Given the description of an element on the screen output the (x, y) to click on. 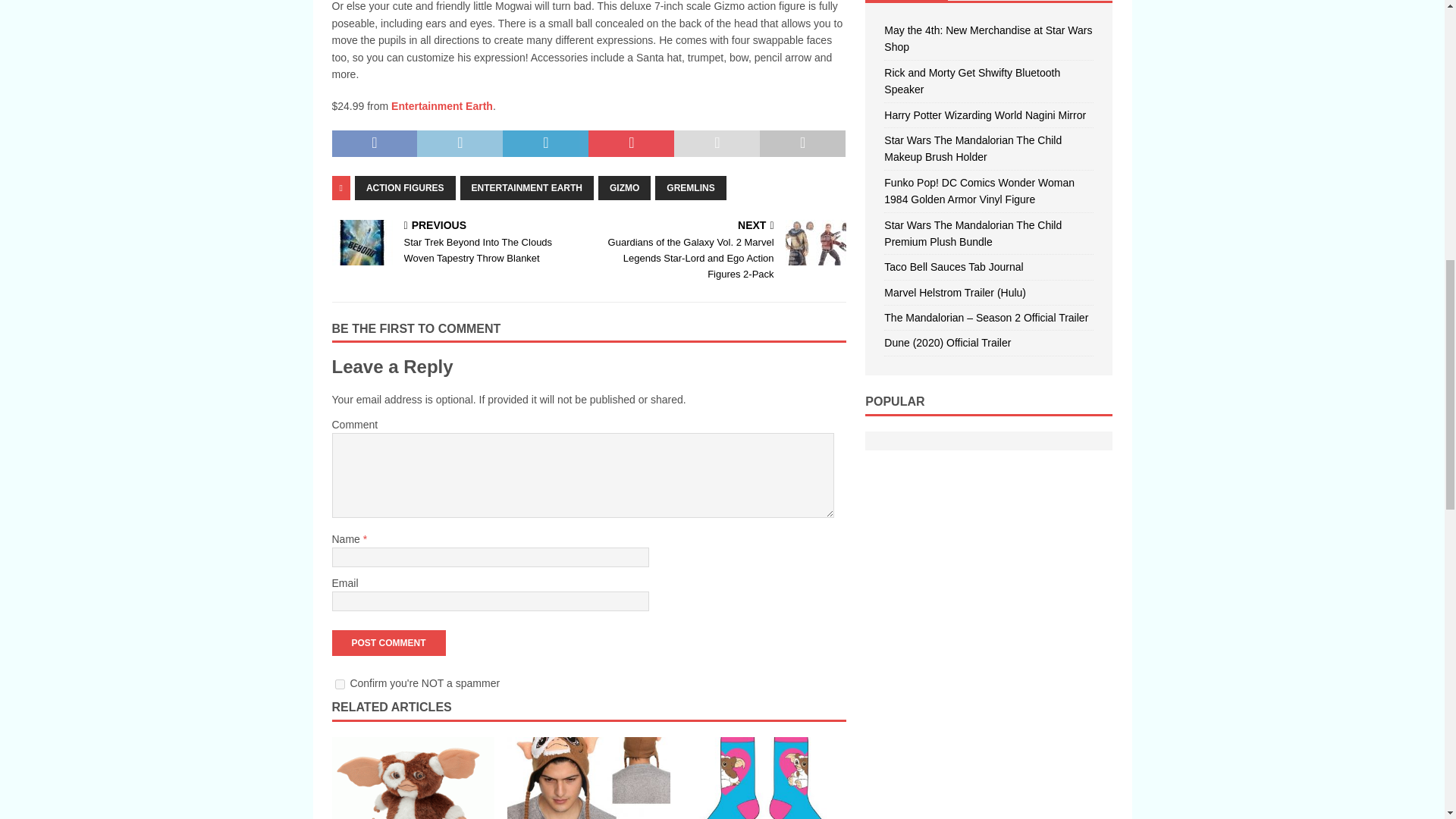
on (339, 684)
Post Comment (388, 642)
Gremlins Dancing Gizmo Plush (413, 778)
Gremlins Gizmo Peruvian Beanie (587, 778)
